Given the description of an element on the screen output the (x, y) to click on. 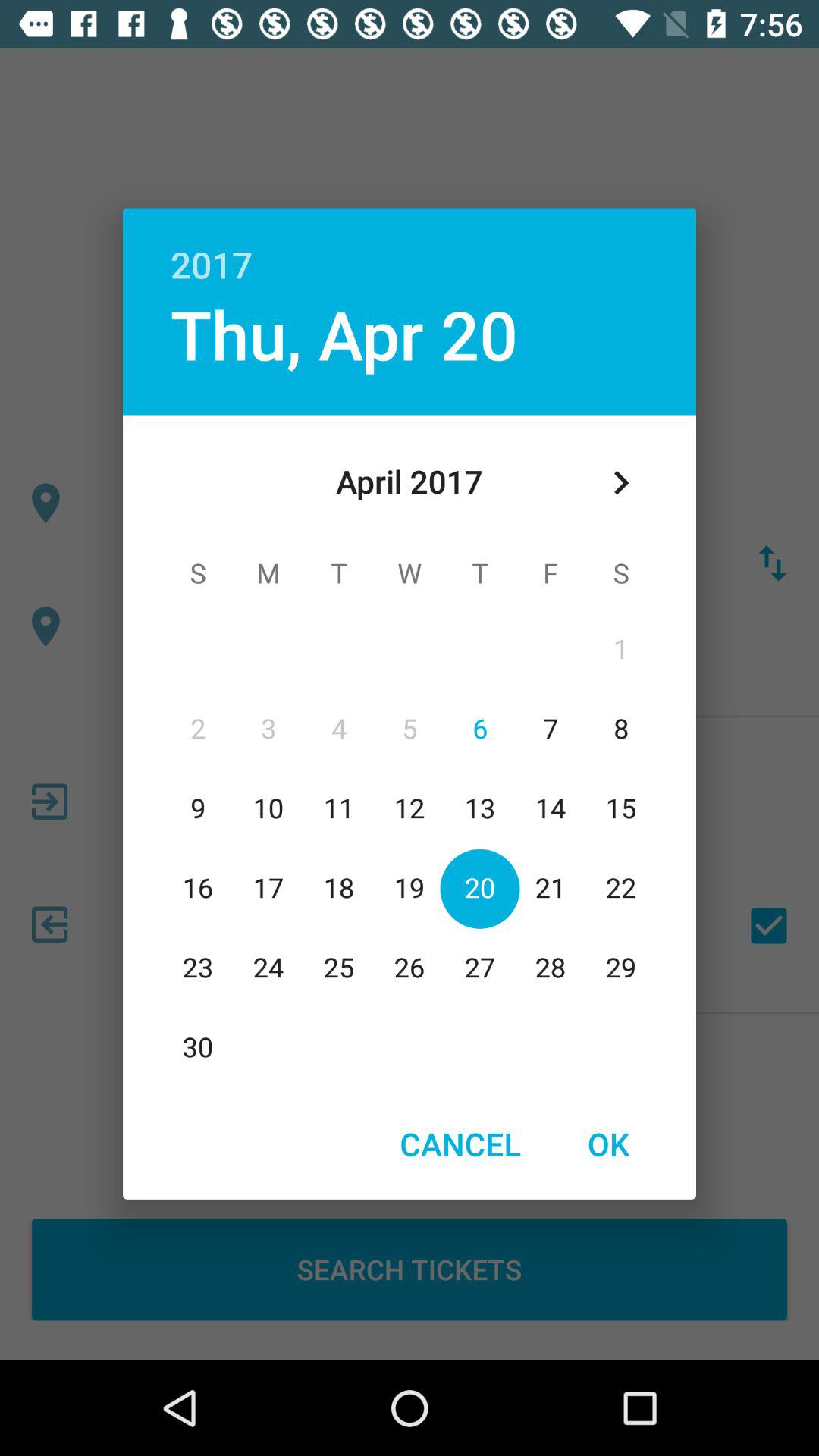
click ok icon (608, 1143)
